Given the description of an element on the screen output the (x, y) to click on. 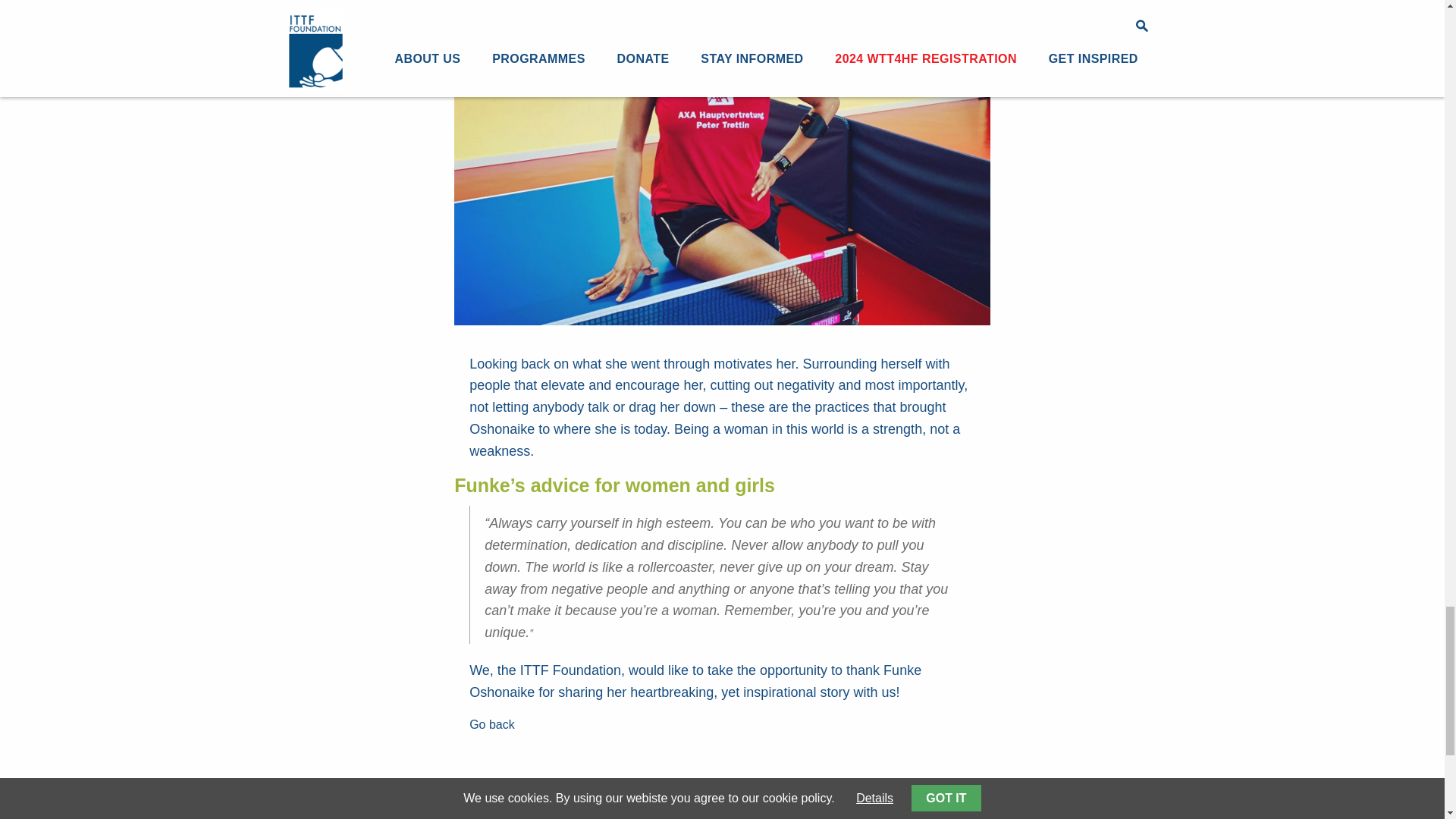
Go back (491, 722)
